Given the description of an element on the screen output the (x, y) to click on. 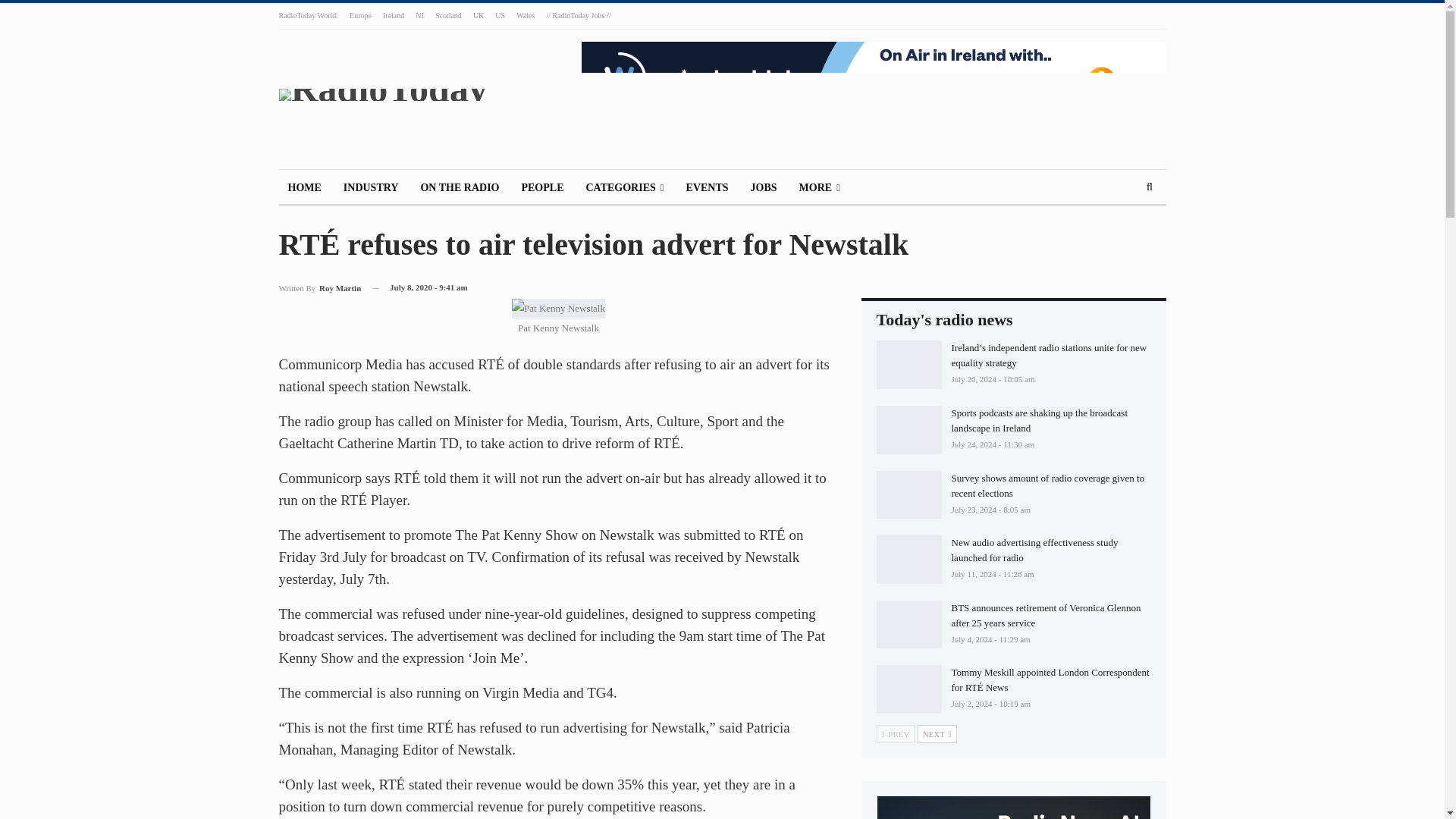
CATEGORIES (624, 187)
Scotland (448, 15)
Europe (360, 15)
UK (478, 15)
Browse Author Articles (320, 287)
RadioToday World: (309, 15)
Written By Roy Martin (320, 287)
JOBS (763, 187)
PEOPLE (542, 187)
INDUSTRY (370, 187)
NI (418, 15)
Ireland (393, 15)
HOME (304, 187)
MORE (819, 187)
Wales (525, 15)
